Given the description of an element on the screen output the (x, y) to click on. 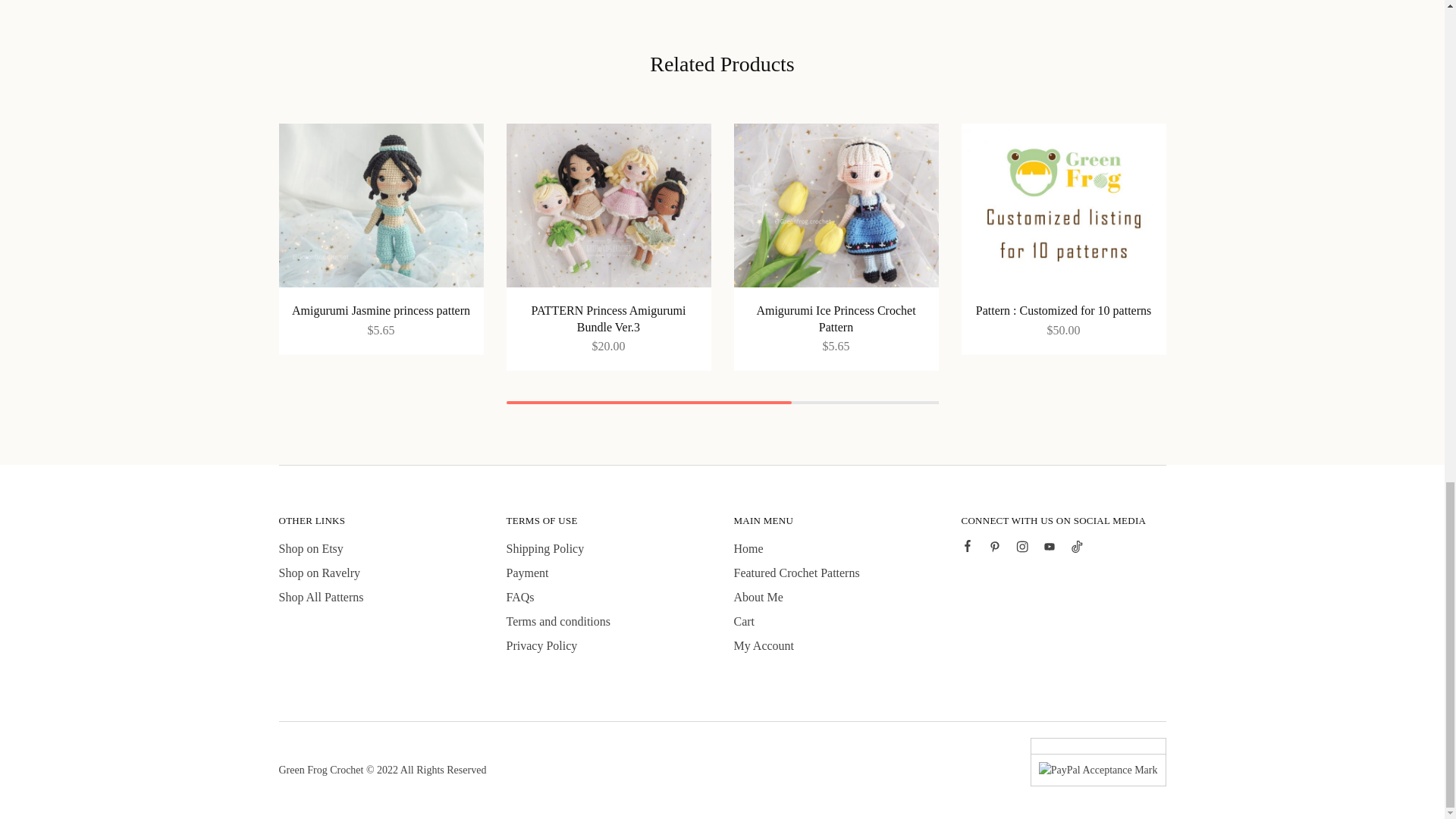
Facebook (967, 547)
How PayPal Works (1098, 769)
Pinterest (995, 548)
Youtube (1048, 548)
Instagram (1022, 548)
Tiktok (1076, 548)
